Given the description of an element on the screen output the (x, y) to click on. 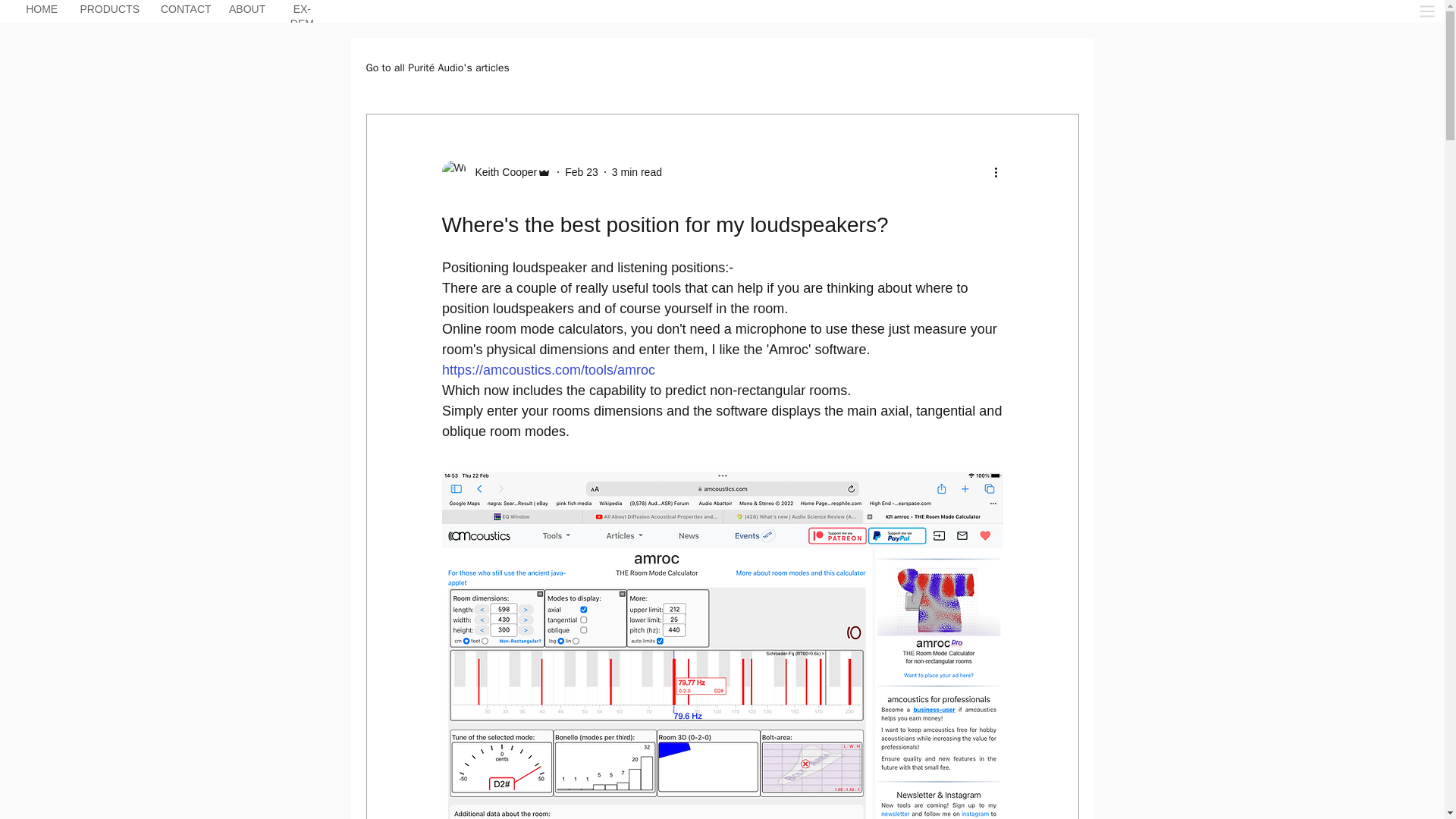
HOME (41, 10)
Feb 23 (581, 171)
PRODUCTS (109, 10)
CONTACT (185, 10)
Keith Cooper (501, 171)
3 min read (636, 171)
EX-DEM (301, 18)
ABOUT (247, 10)
